Given the description of an element on the screen output the (x, y) to click on. 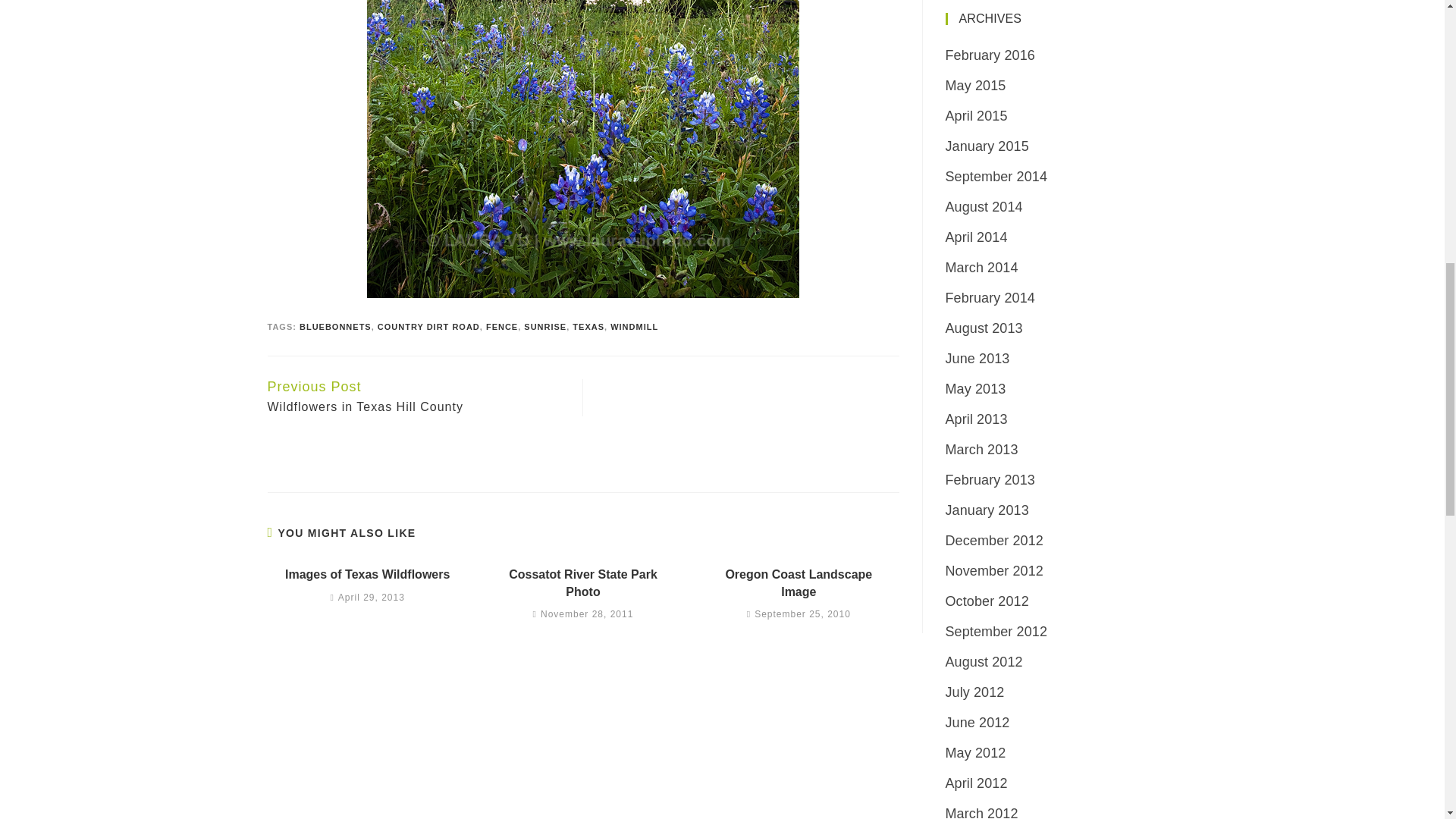
WINDMILL (634, 326)
SUNRISE (545, 326)
Cossatot River State Park Photo (583, 583)
Oregon Coast Landscape Image (798, 583)
Images of Texas Wildflowers (367, 574)
COUNTRY DIRT ROAD (416, 397)
BLUEBONNETS (428, 326)
Cossatot River State Park Photo (335, 326)
Oregon Coast Landscape Image (583, 583)
Images of Texas Wildflowers (798, 583)
TEXAS (367, 574)
FENCE (588, 326)
